Given the description of an element on the screen output the (x, y) to click on. 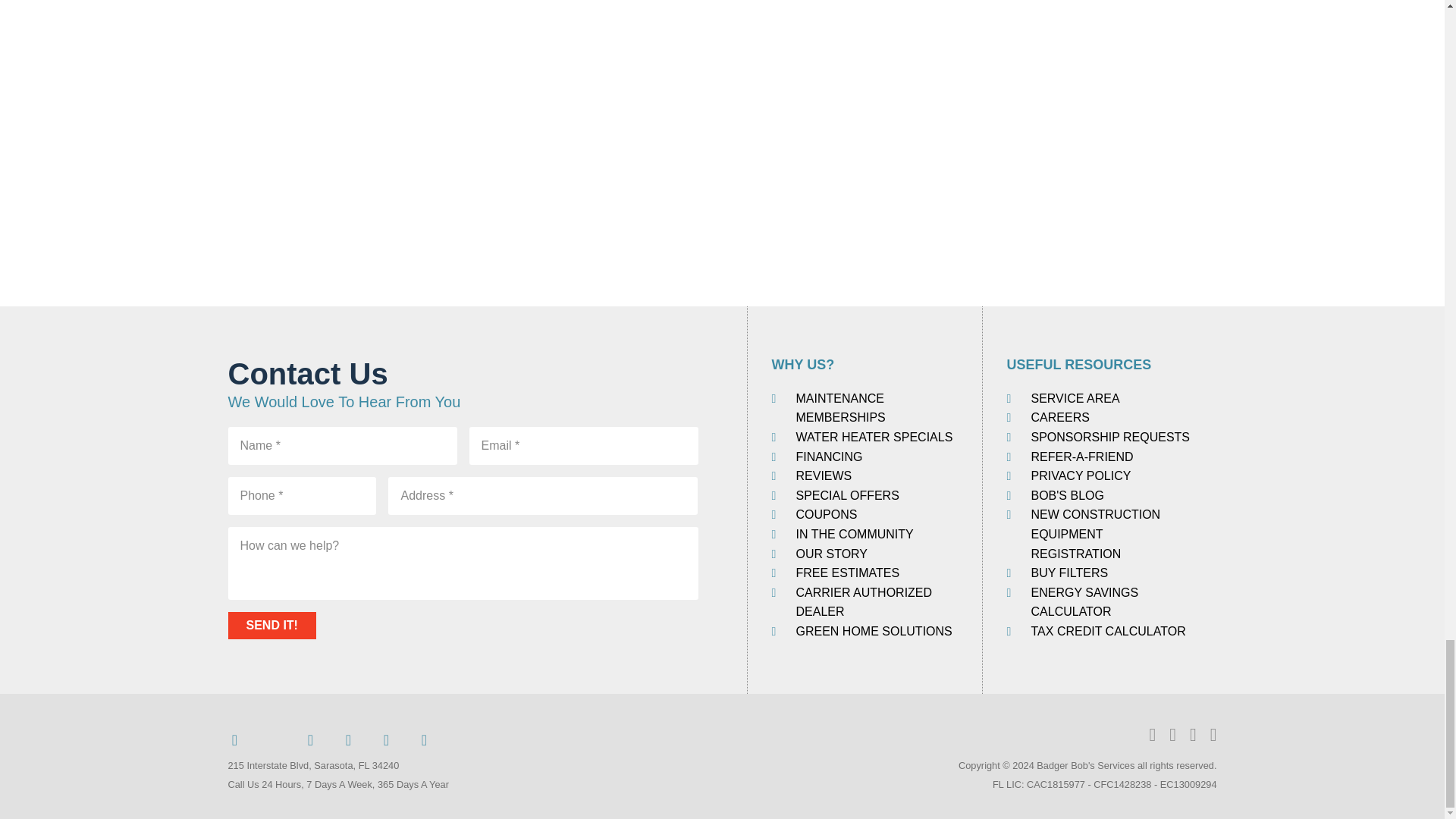
Instagram (385, 736)
Threads (272, 736)
Facebook (234, 736)
yelp (423, 736)
YouTube (347, 736)
